Given the description of an element on the screen output the (x, y) to click on. 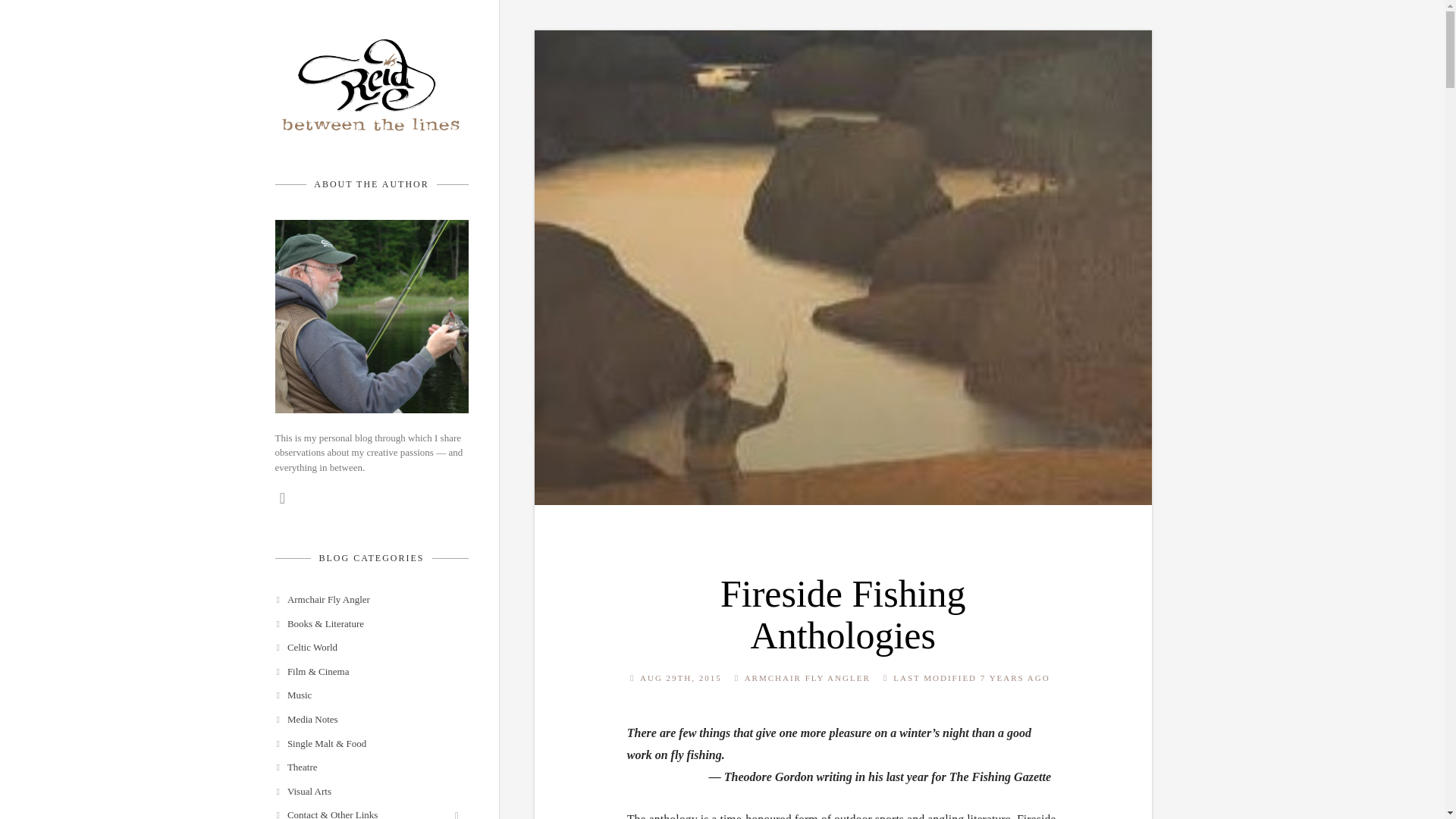
ARMCHAIR FLY ANGLER (807, 677)
Media Notes (357, 725)
Theatre (357, 773)
Visual Arts (357, 797)
Music (357, 701)
Celtic World (357, 653)
Armchair Fly Angler (357, 605)
